Given the description of an element on the screen output the (x, y) to click on. 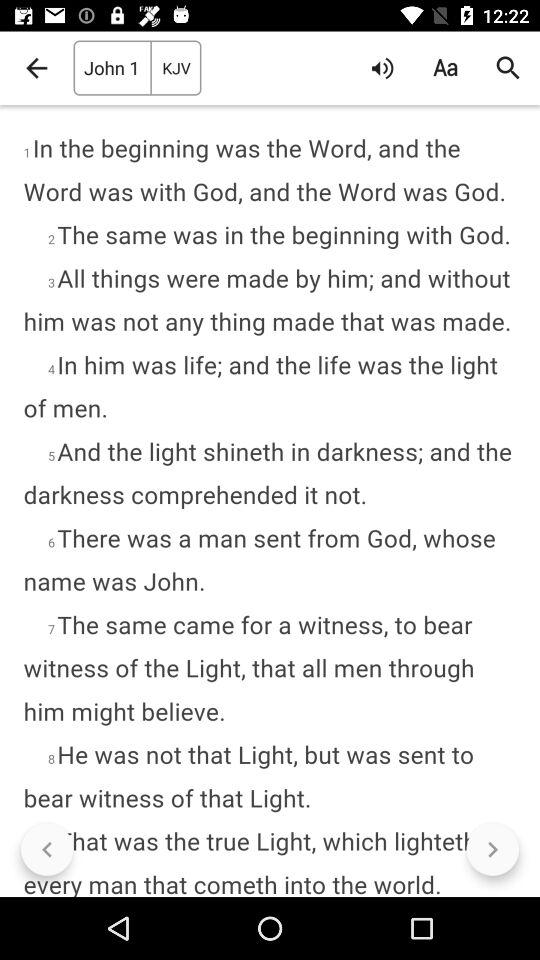
turn off the item at the center (270, 500)
